Given the description of an element on the screen output the (x, y) to click on. 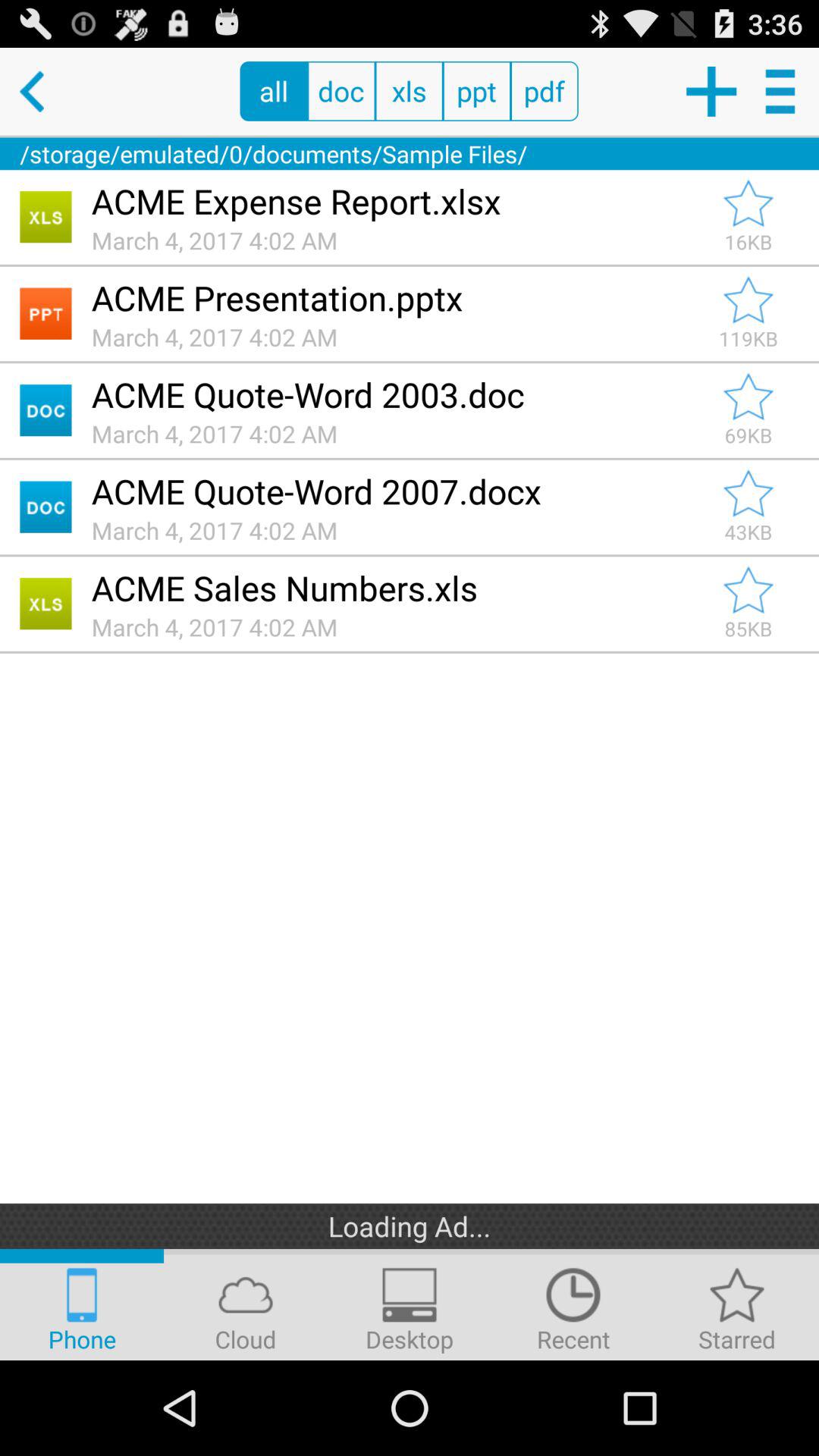
click item to the left of all radio button (43, 91)
